Given the description of an element on the screen output the (x, y) to click on. 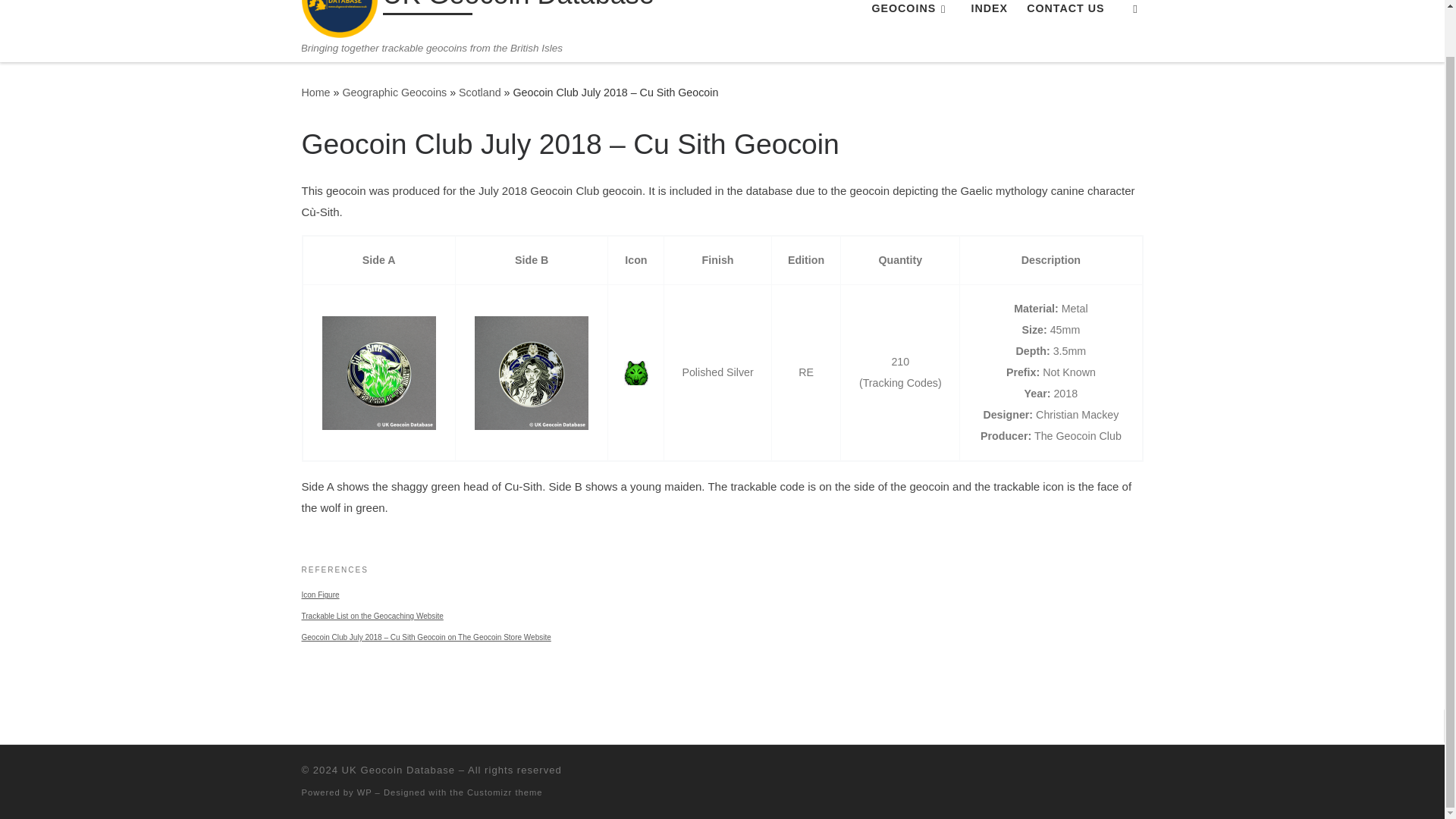
Scotland (479, 92)
UK Geocoin Database (315, 92)
CONTACT US (1065, 12)
GEOCOINS (911, 12)
Search (1135, 15)
Powered by WordPress (364, 791)
Customizr theme (505, 791)
Geographic Geocoins (394, 92)
UK Geocoin Database (398, 769)
INDEX (988, 12)
UK Geocoin Database (517, 7)
